Given the description of an element on the screen output the (x, y) to click on. 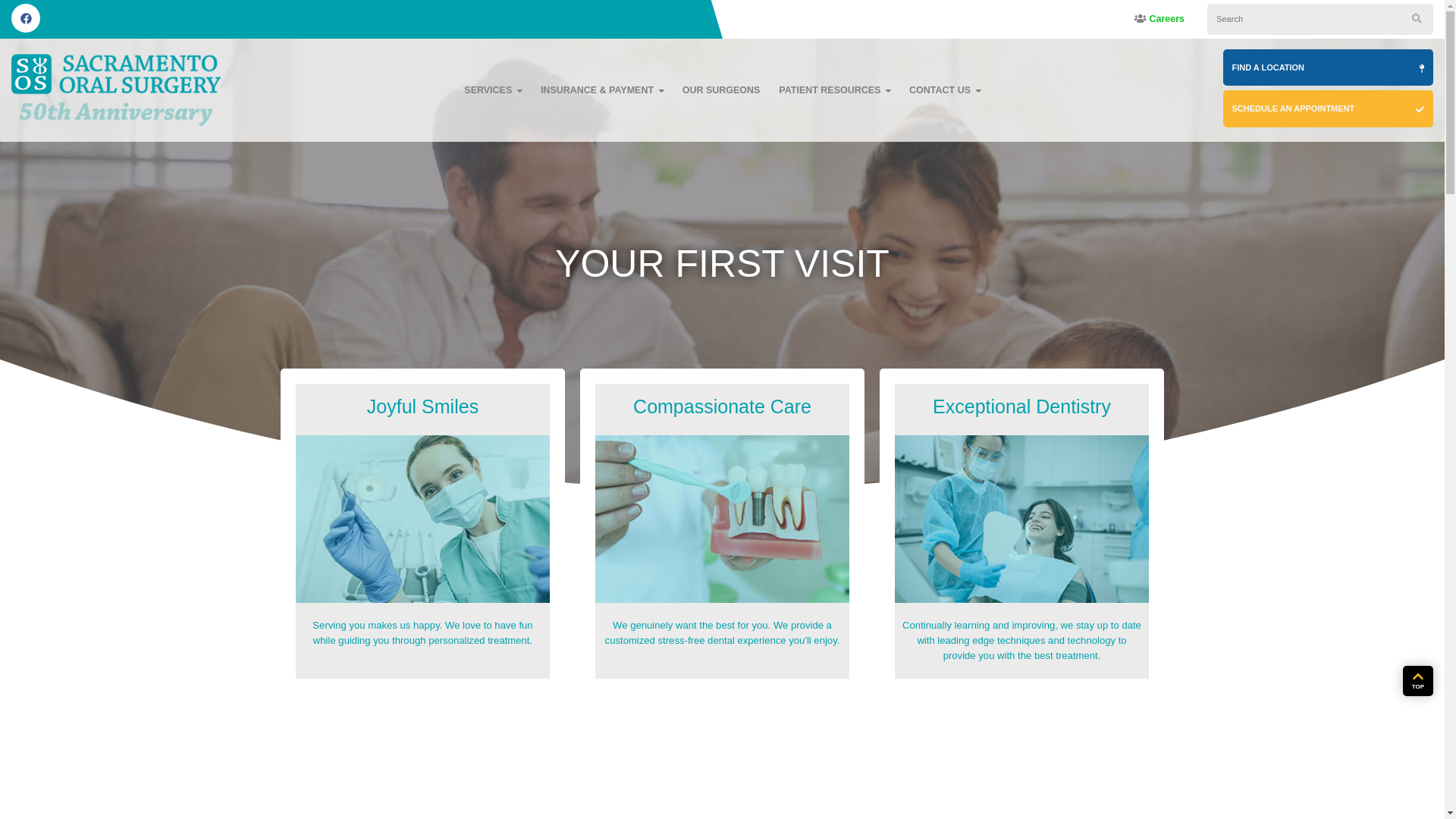
FIND A LOCATION (1327, 67)
PATIENT RESOURCES (834, 90)
Careers (1159, 19)
OUR SURGEONS (721, 90)
SCHEDULE AN APPOINTMENT (1327, 108)
Sacramento Oral Surgery (116, 90)
